Given the description of an element on the screen output the (x, y) to click on. 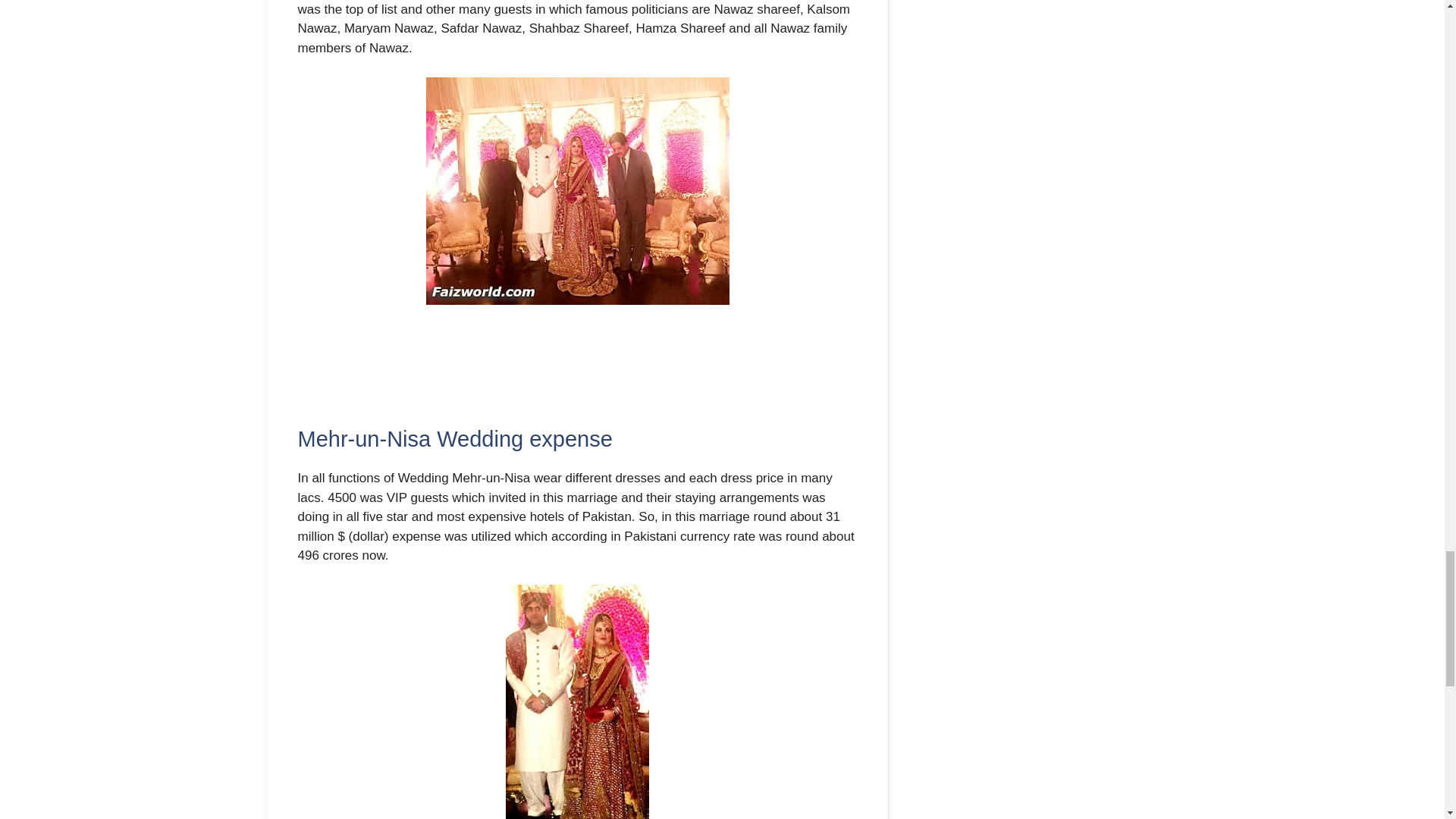
Mehr-un-nisa munir (577, 190)
Mehr-un-nisa munir (577, 701)
